Given the description of an element on the screen output the (x, y) to click on. 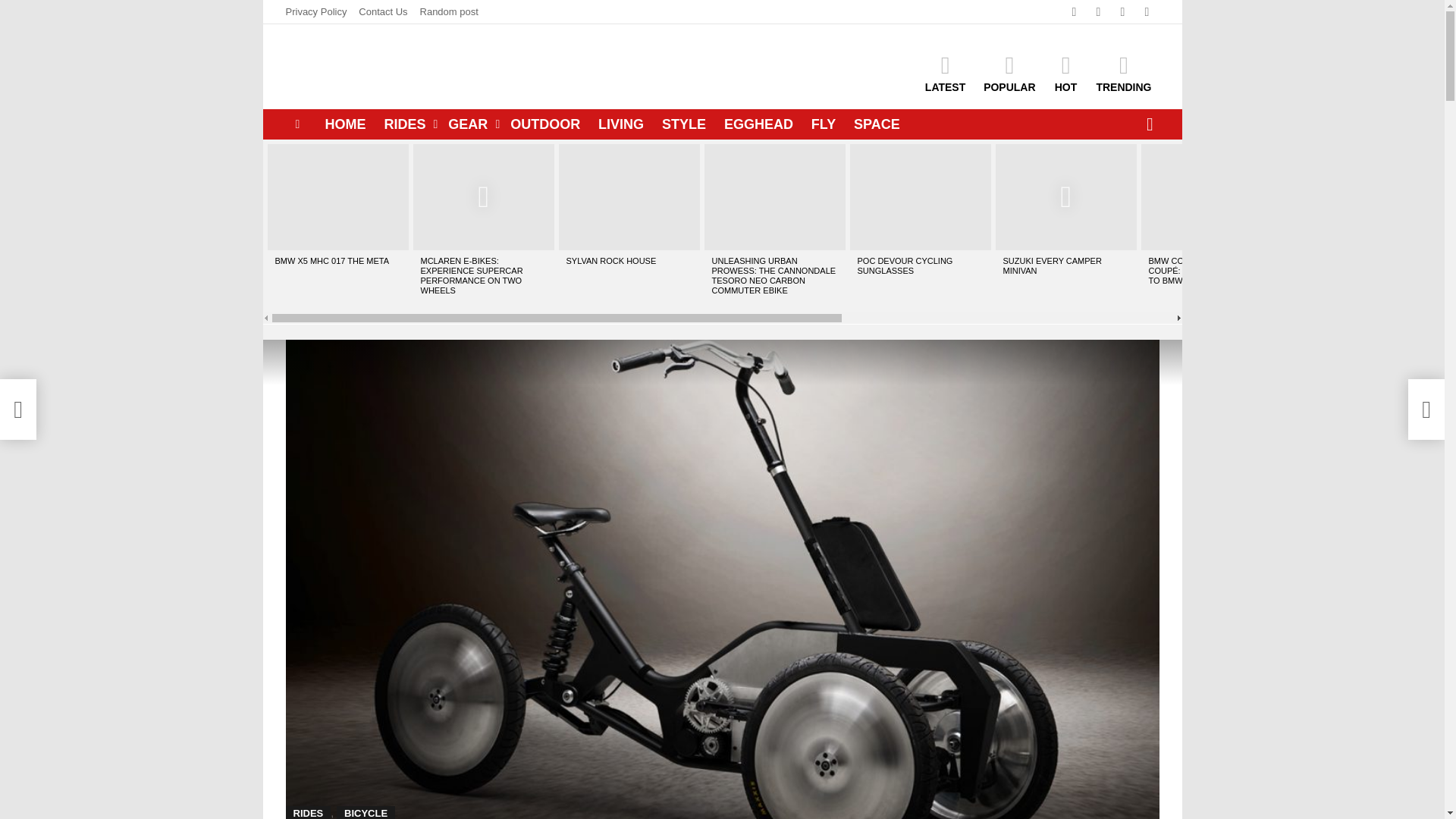
facebook (1073, 11)
TRENDING (1122, 73)
EGGHEAD (758, 124)
Random post (449, 12)
BMW X5 MHC 017 THE META (336, 197)
HOT (1064, 73)
GEAR (470, 124)
SPACE (876, 124)
OUTDOOR (545, 124)
POC Devour Cycling Sunglasses (919, 197)
Privacy Policy (315, 12)
FLY (823, 124)
Contact Us (382, 12)
